Given the description of an element on the screen output the (x, y) to click on. 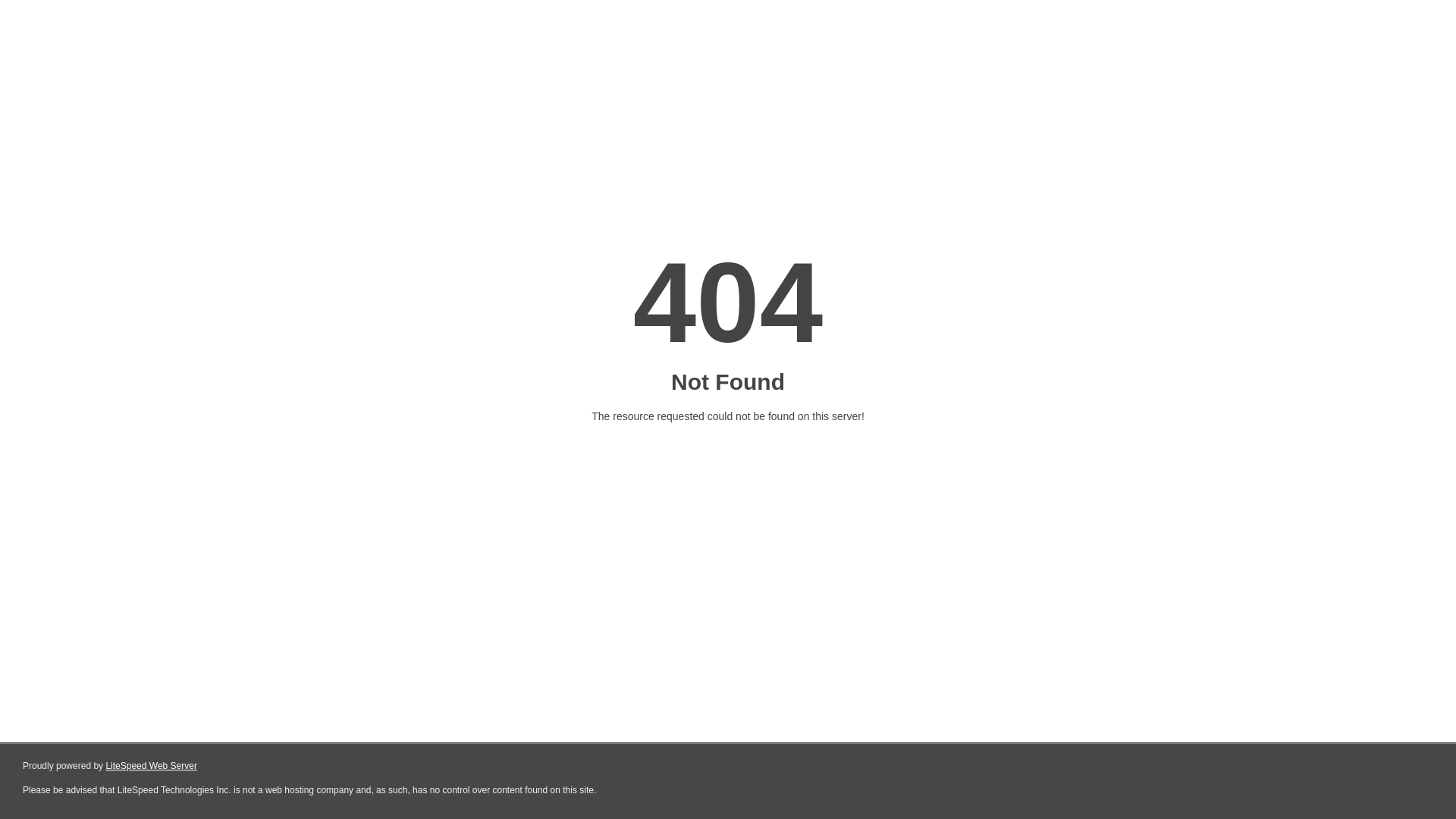
LiteSpeed Web Server (150, 765)
